Given the description of an element on the screen output the (x, y) to click on. 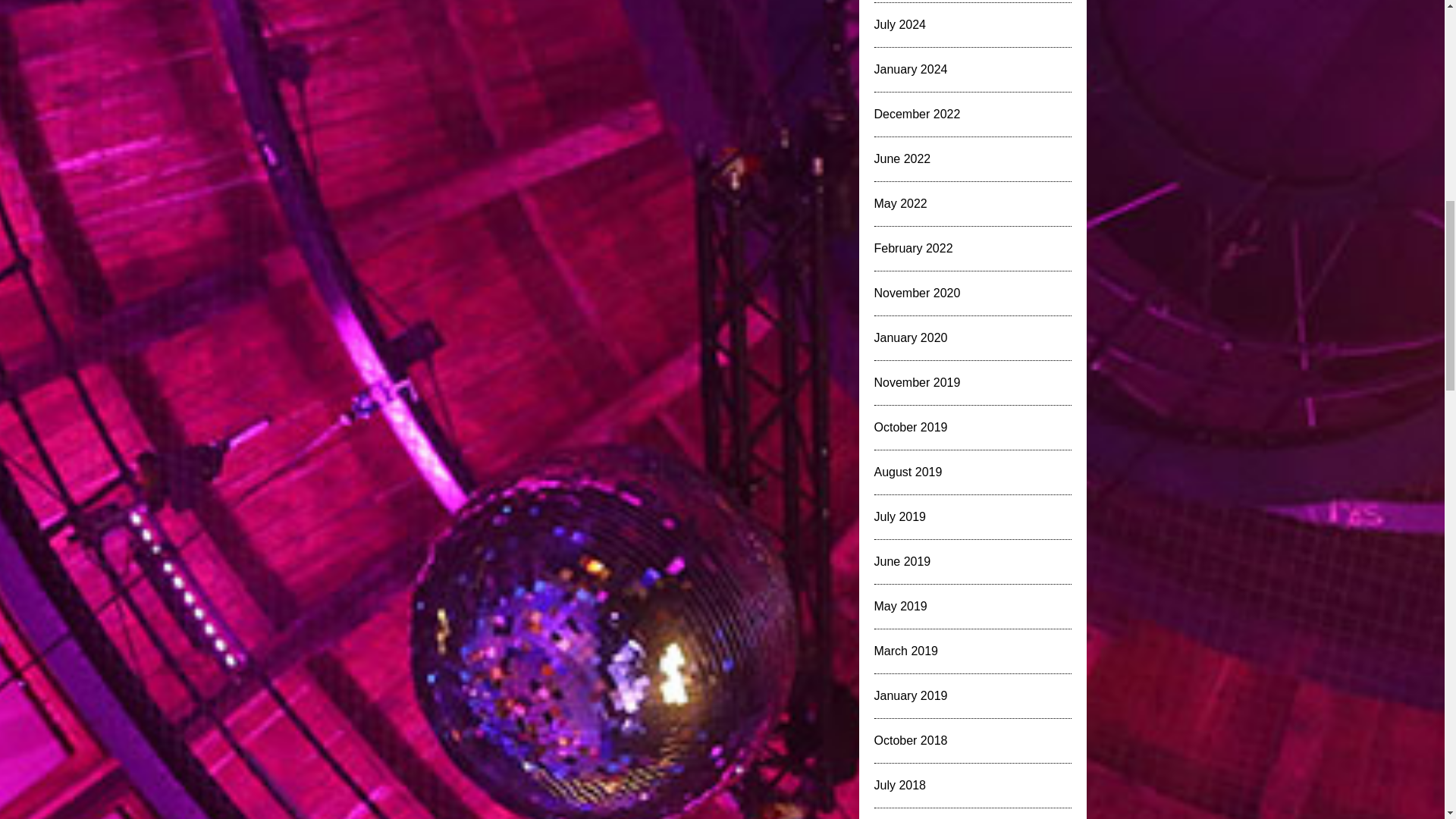
June 2022 (901, 158)
December 2022 (916, 113)
May 2022 (899, 203)
August 2019 (907, 472)
March 2019 (905, 650)
January 2020 (910, 337)
January 2019 (910, 695)
November 2020 (916, 292)
June 2019 (901, 561)
July 2019 (899, 516)
